Given the description of an element on the screen output the (x, y) to click on. 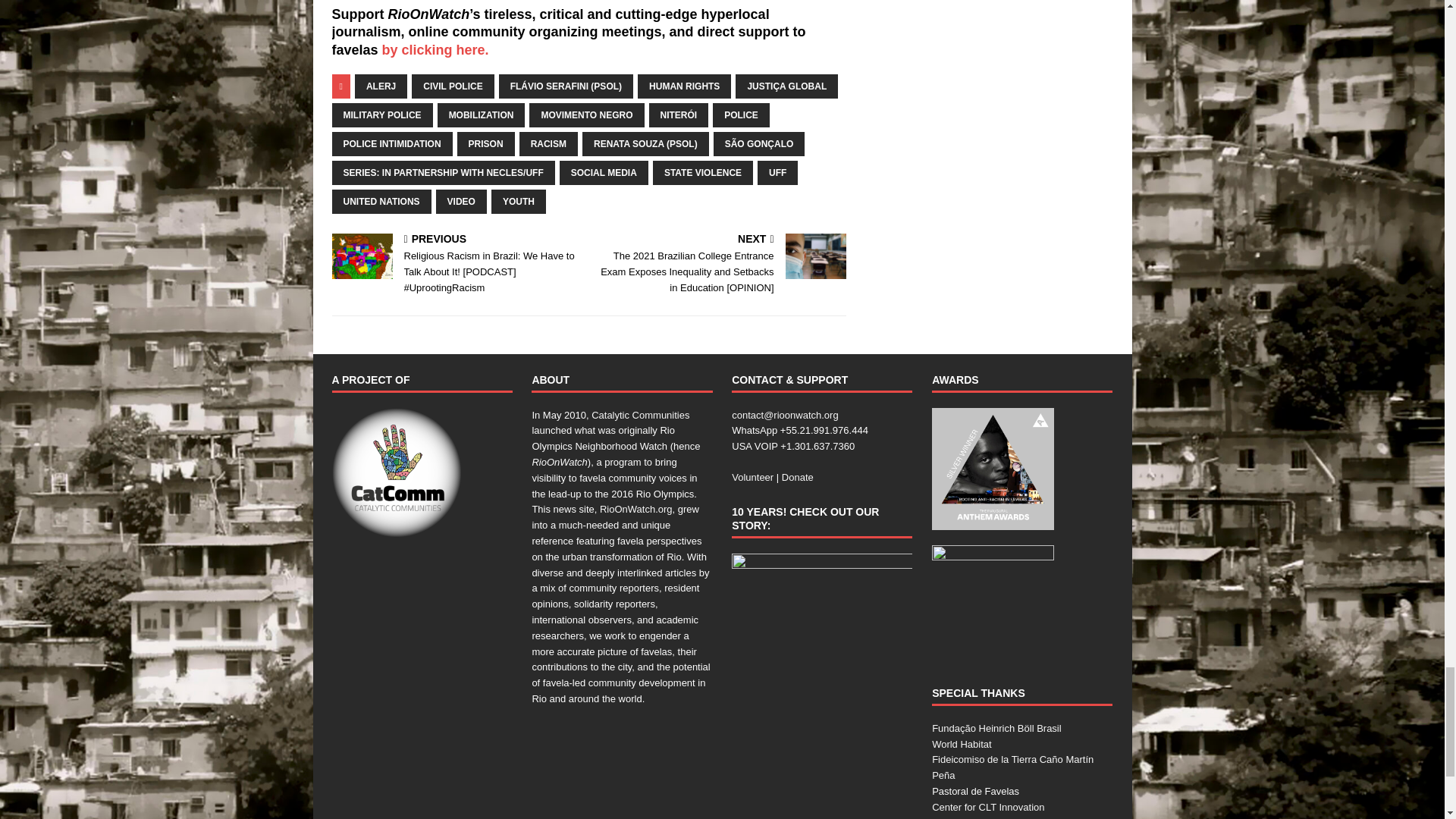
Comunidades Catalisadoras (396, 472)
